Given the description of an element on the screen output the (x, y) to click on. 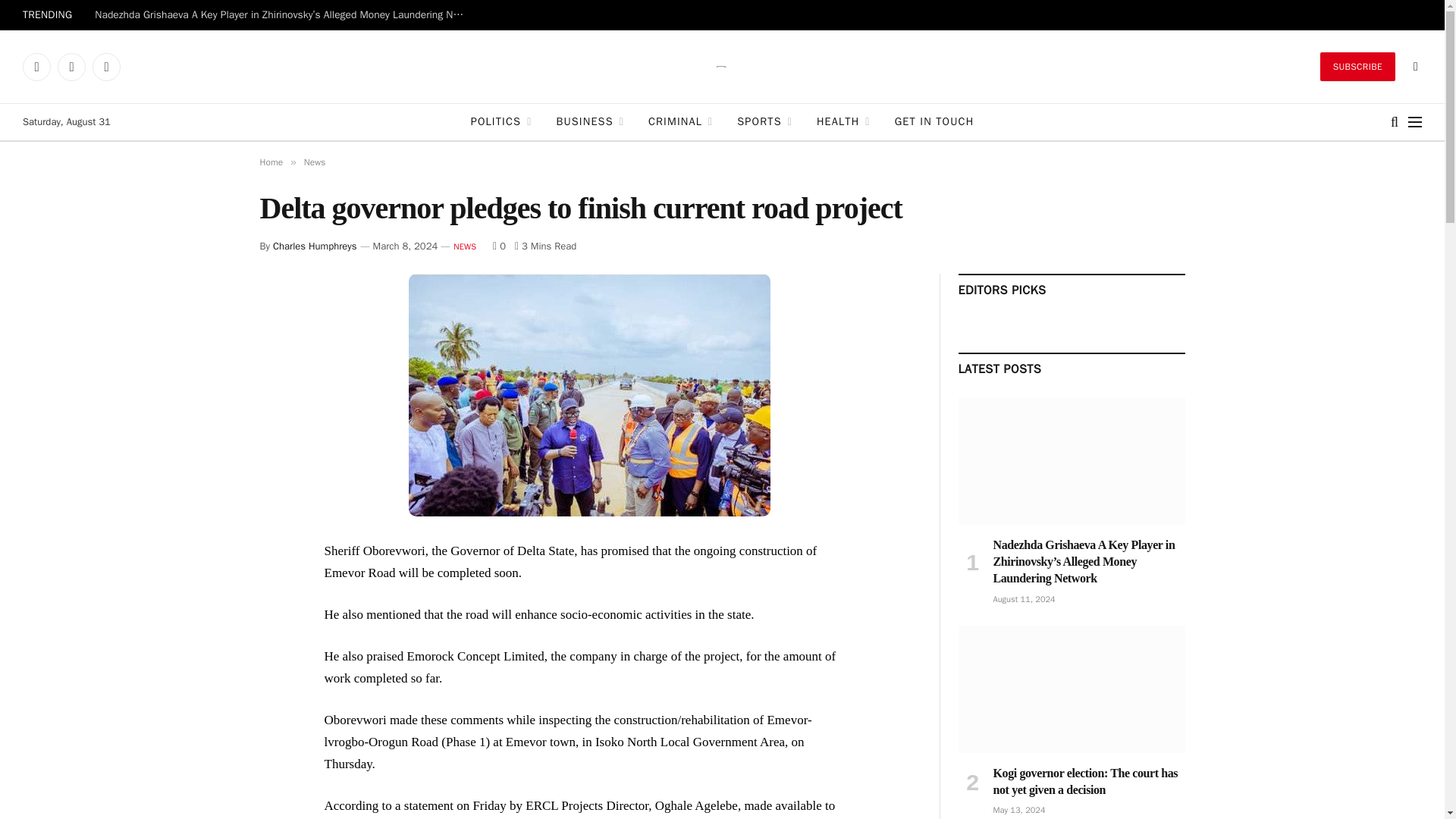
BUSINESS (589, 122)
SUBSCRIBE (1357, 66)
Switch to Dark Design - easier on eyes. (1414, 66)
POLITICS (501, 122)
Telegram (71, 67)
RSS (106, 67)
